Given the description of an element on the screen output the (x, y) to click on. 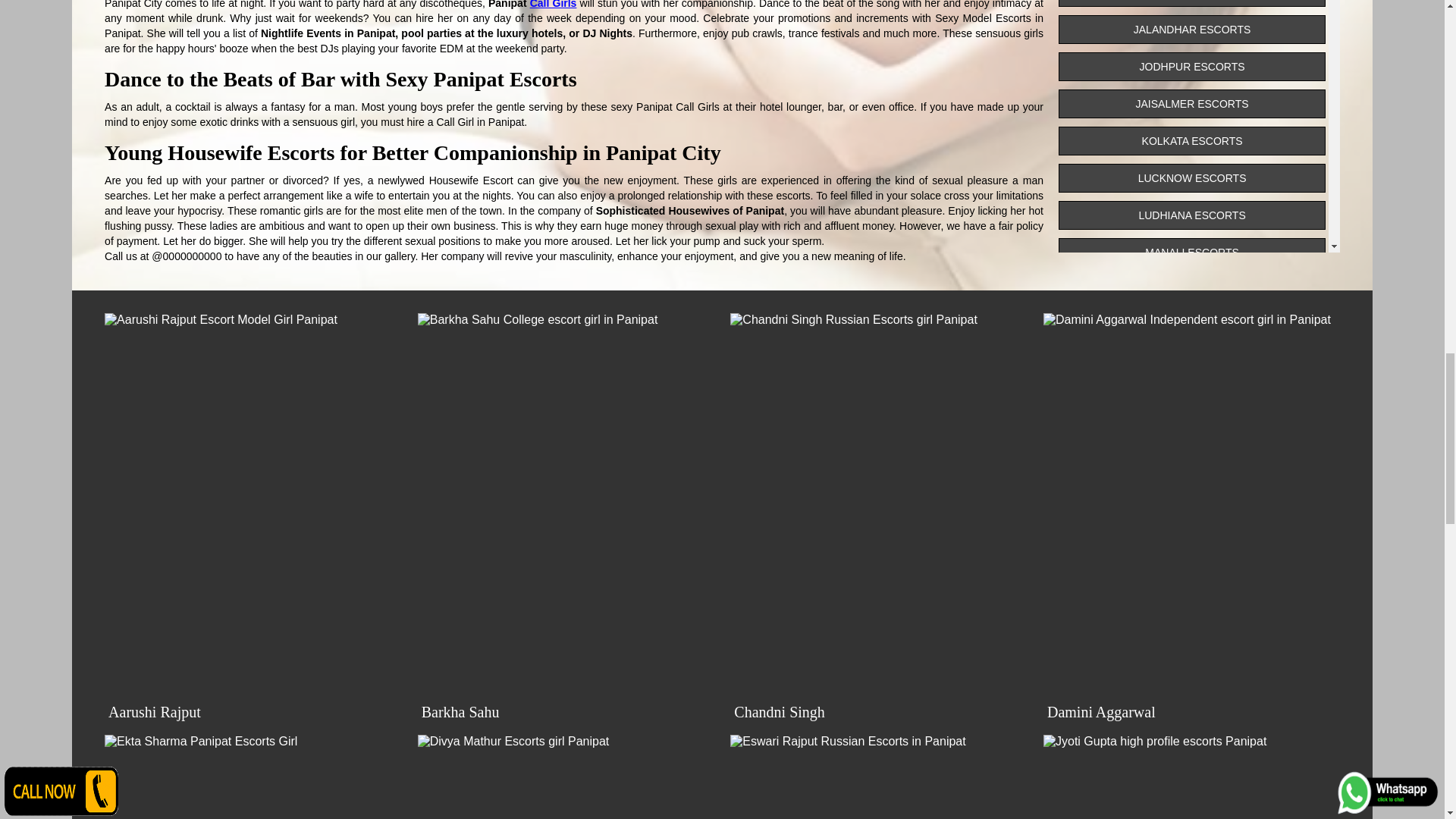
Call Girls (552, 4)
JODHPUR ESCORTS (1191, 66)
JALANDHAR ESCORTS (1191, 29)
JAIPUR ESCORTS (1191, 3)
